Given the description of an element on the screen output the (x, y) to click on. 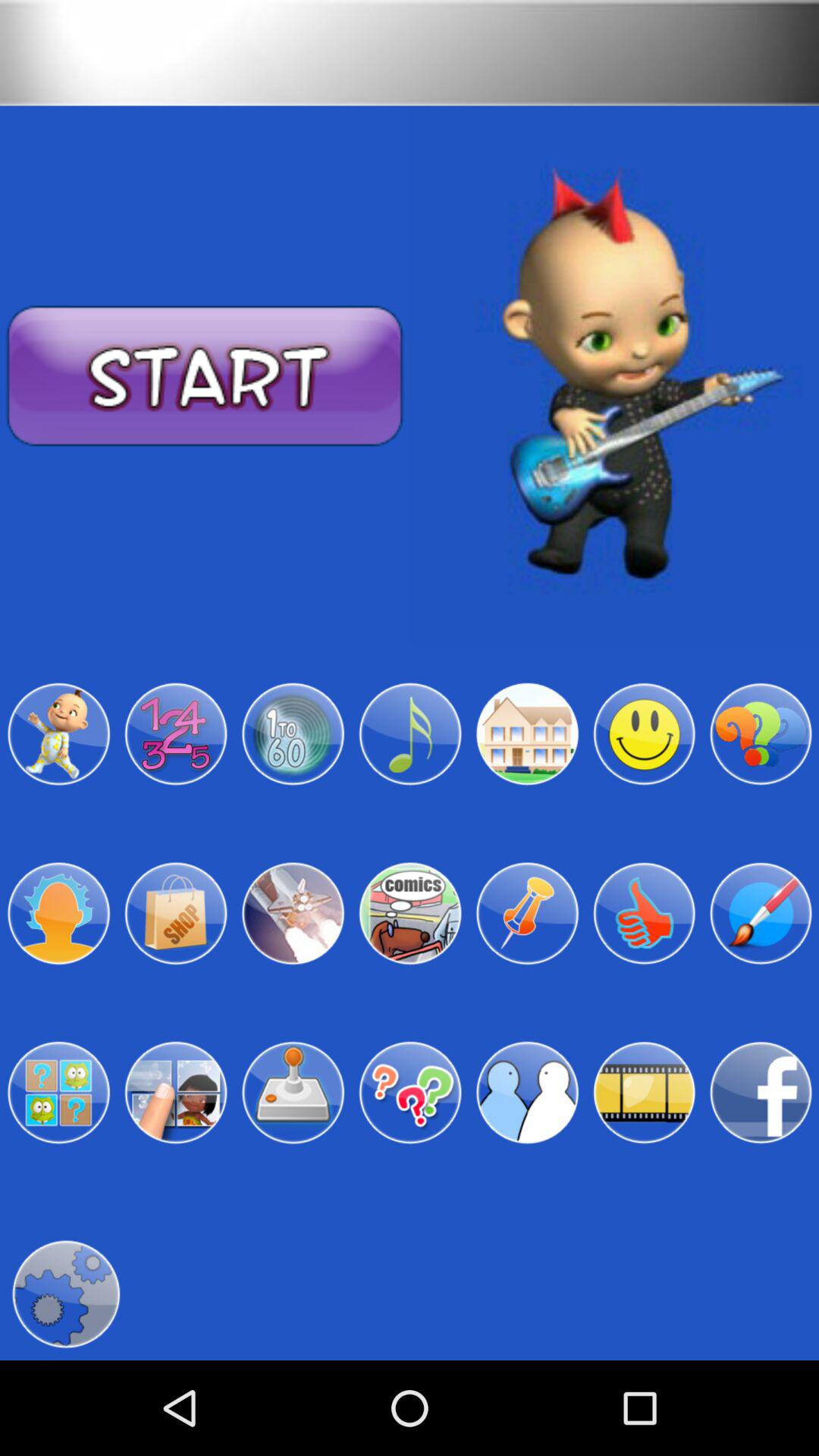
music switch (409, 734)
